Given the description of an element on the screen output the (x, y) to click on. 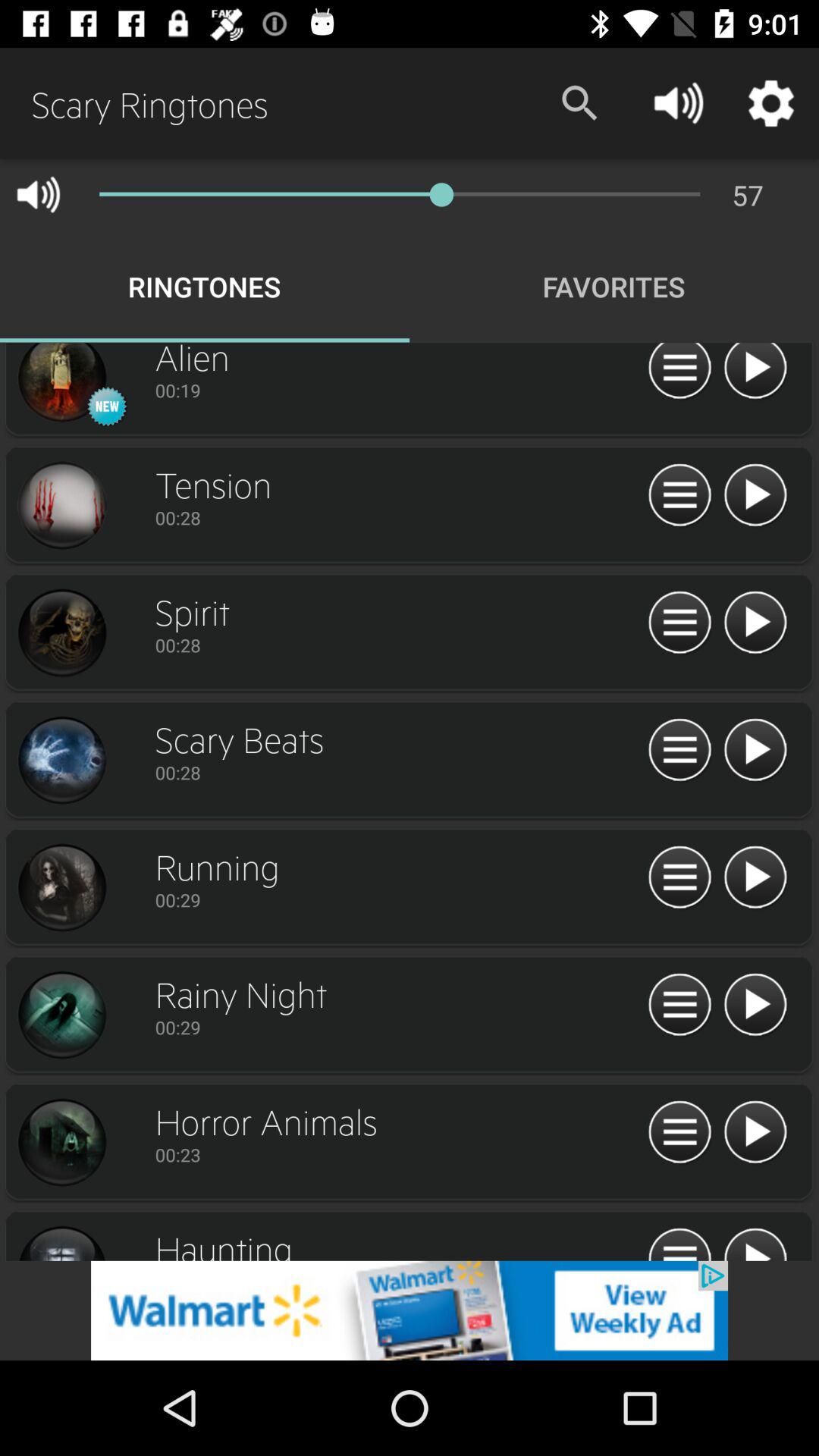
display picture for ringtone (61, 888)
